Given the description of an element on the screen output the (x, y) to click on. 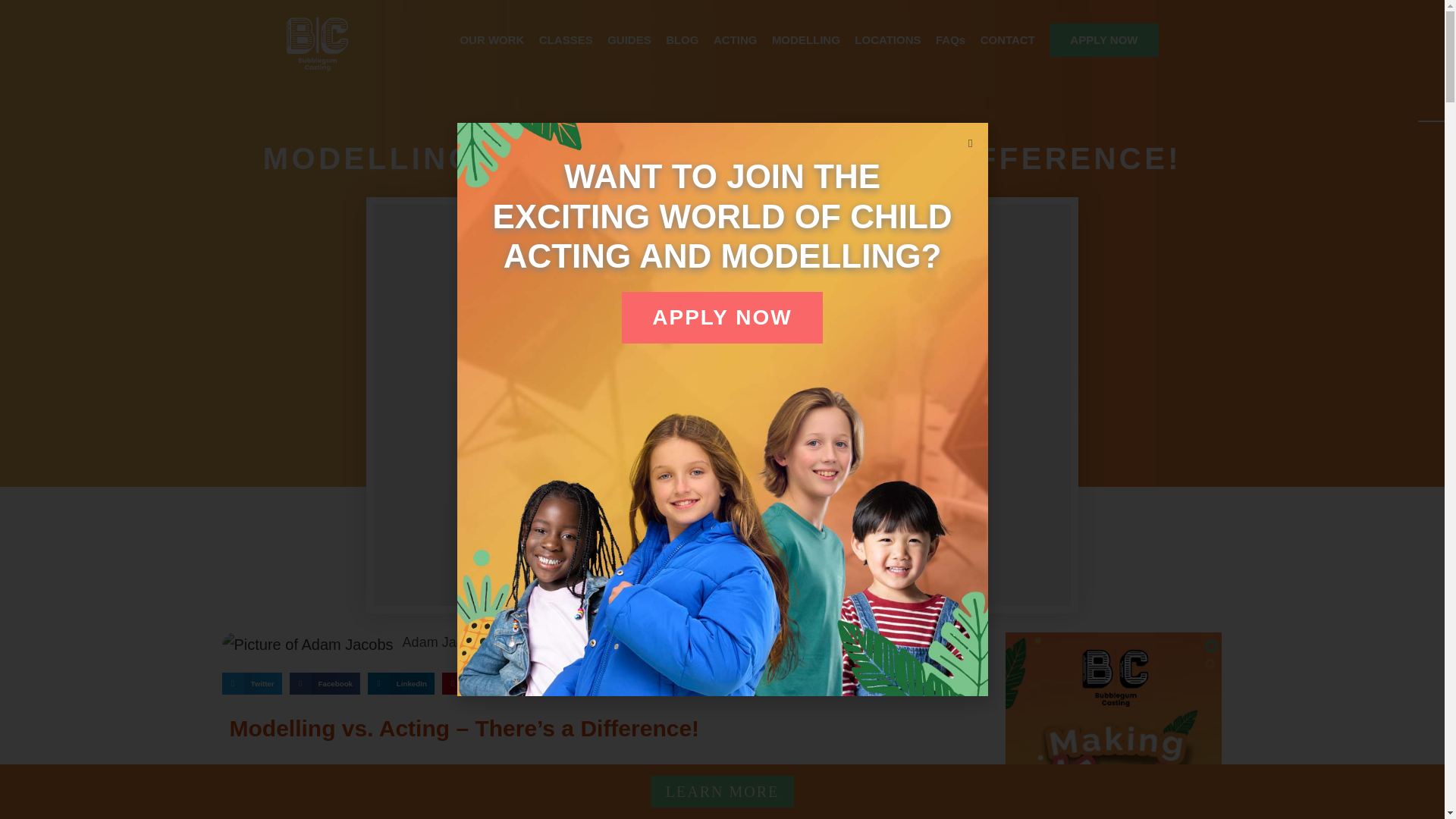
MODELLING (805, 41)
CLASSES (565, 41)
Bubblegum Casting (317, 44)
GUIDES (628, 41)
FAQs (950, 41)
BLOG (681, 41)
LOCATIONS (887, 41)
OUR WORK (492, 41)
ACTING (735, 41)
CONTACT (1007, 41)
